Given the description of an element on the screen output the (x, y) to click on. 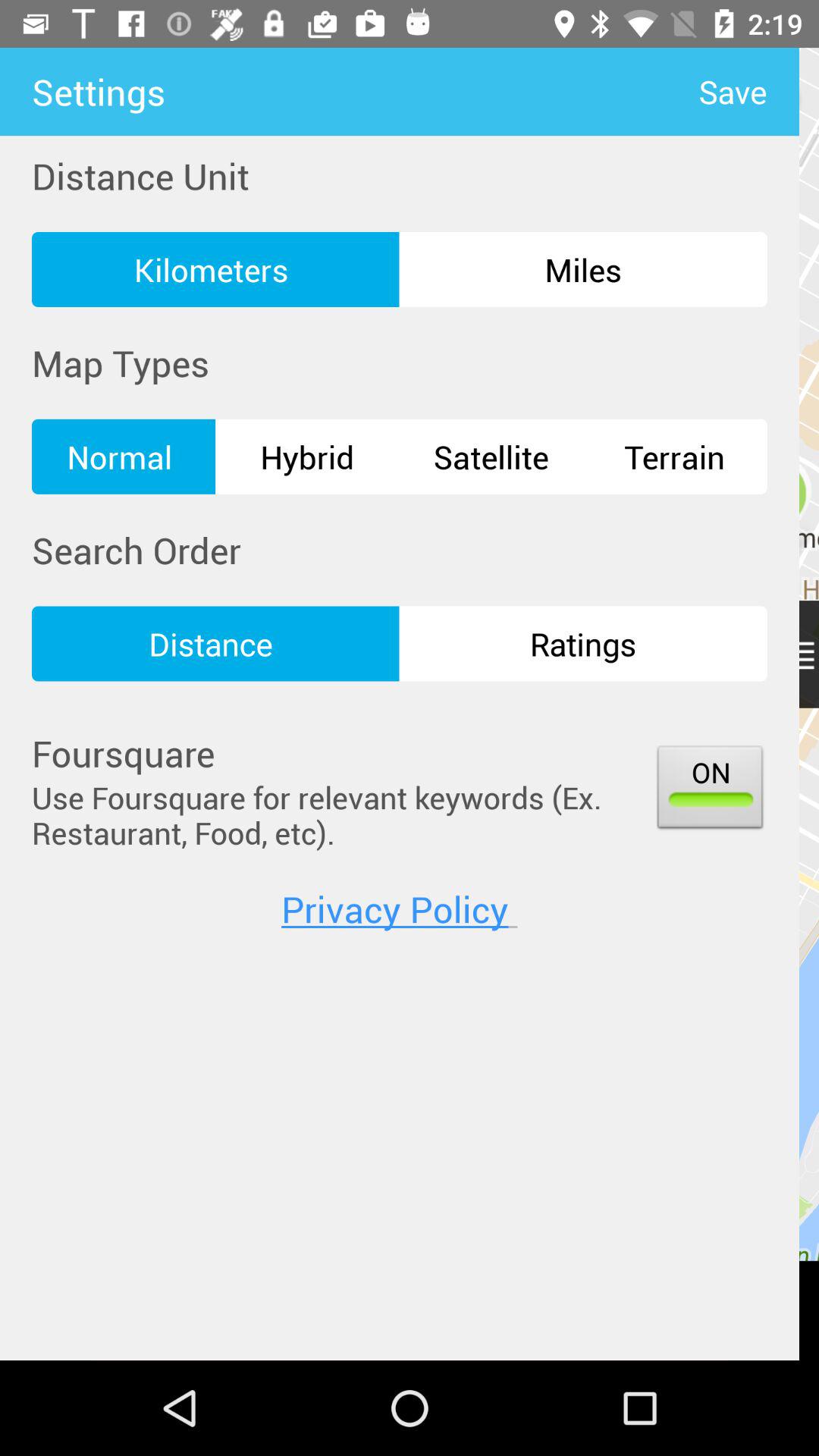
press the kilometers  icon (215, 269)
